Given the description of an element on the screen output the (x, y) to click on. 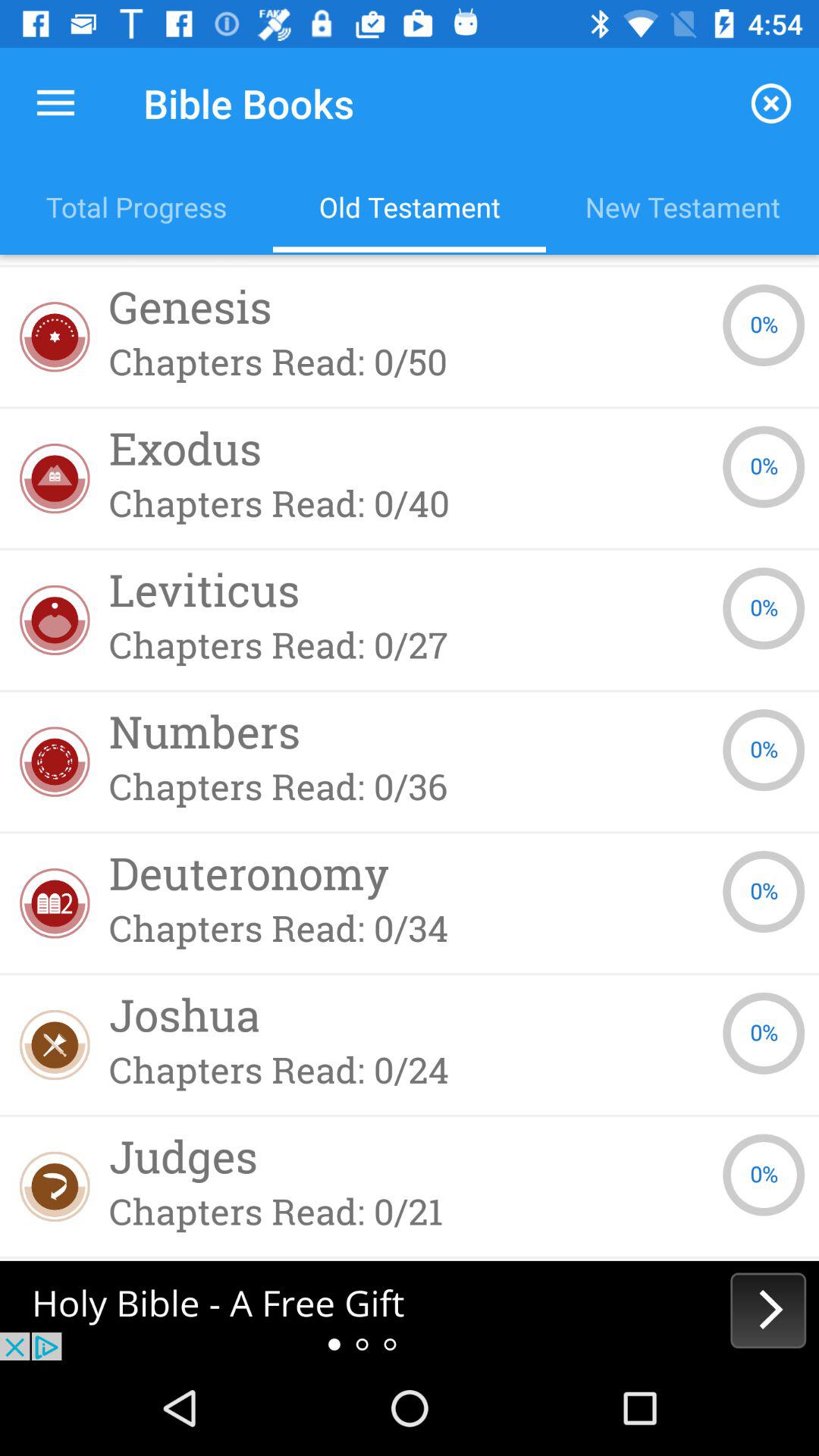
open advertisement (409, 1310)
